Given the description of an element on the screen output the (x, y) to click on. 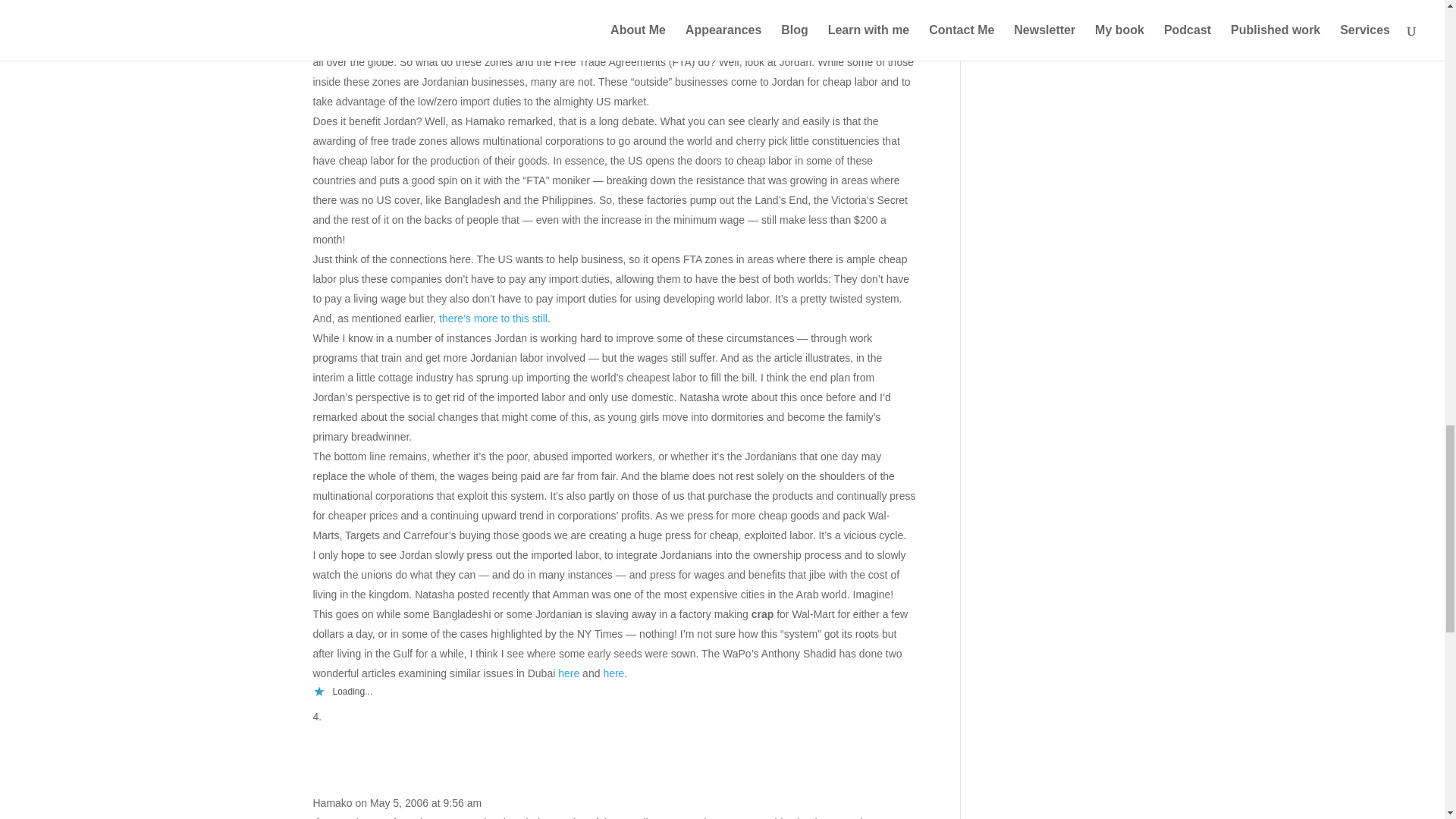
No Logo (523, 22)
here (613, 673)
here (568, 673)
